Given the description of an element on the screen output the (x, y) to click on. 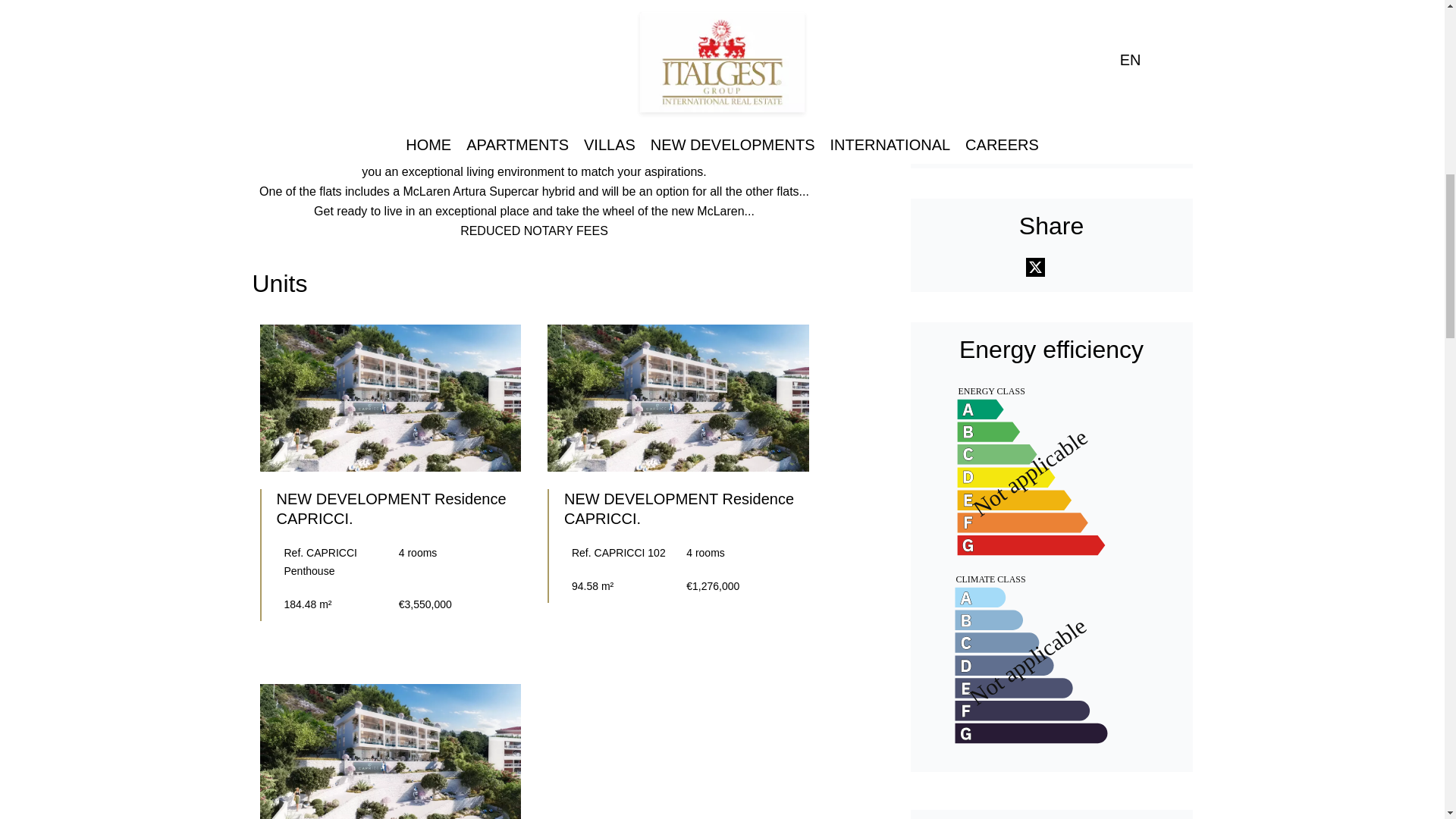
Facebook (1000, 267)
SEND (985, 114)
Linkedin (1105, 267)
privacy policy (988, 82)
on (952, 61)
Whatsapp (1070, 267)
